Given the description of an element on the screen output the (x, y) to click on. 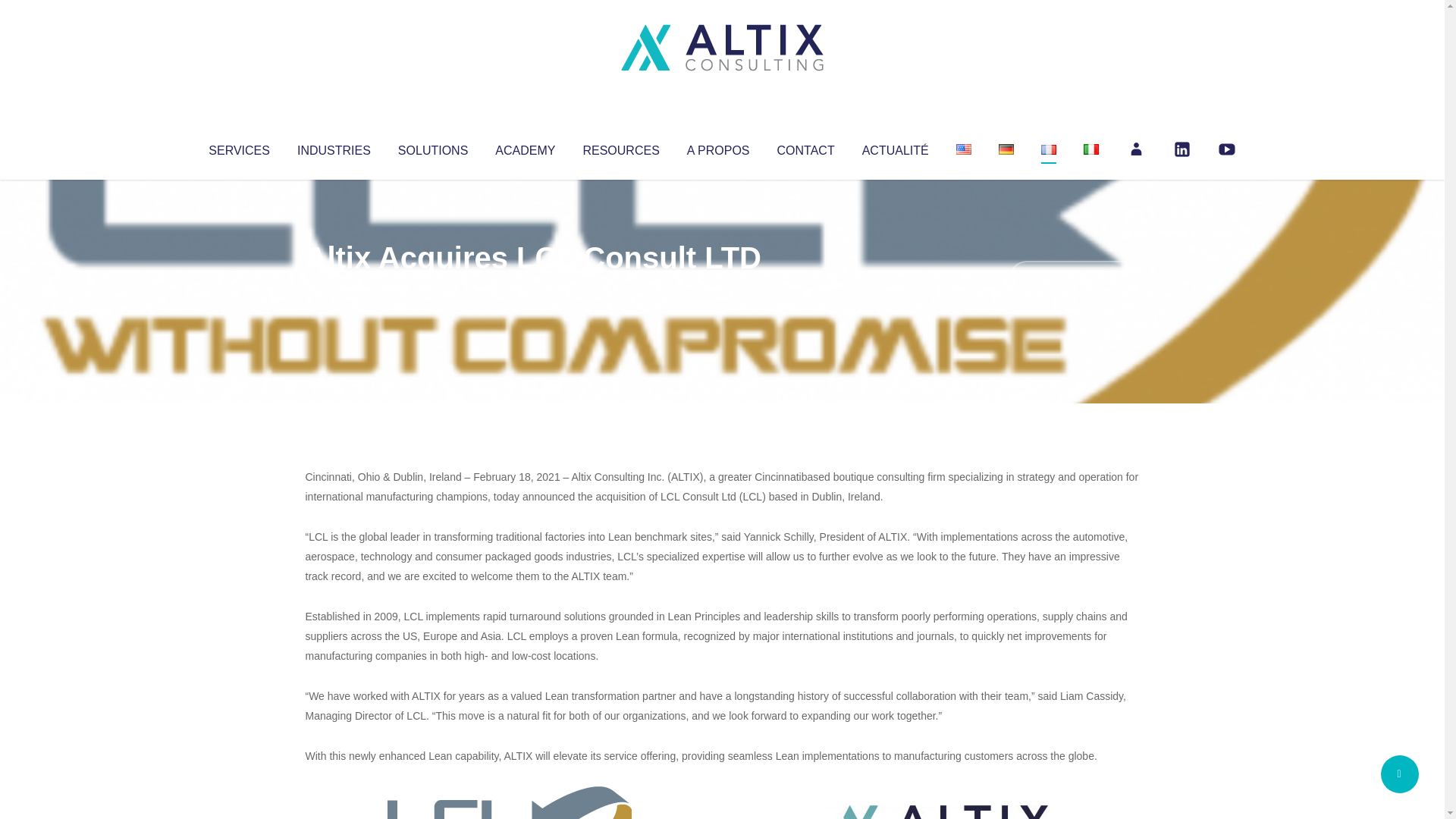
ACADEMY (524, 146)
INDUSTRIES (334, 146)
Uncategorized (530, 287)
SOLUTIONS (432, 146)
No Comments (1073, 278)
A PROPOS (718, 146)
Articles par Altix (333, 287)
RESOURCES (620, 146)
Altix (333, 287)
SERVICES (238, 146)
